Given the description of an element on the screen output the (x, y) to click on. 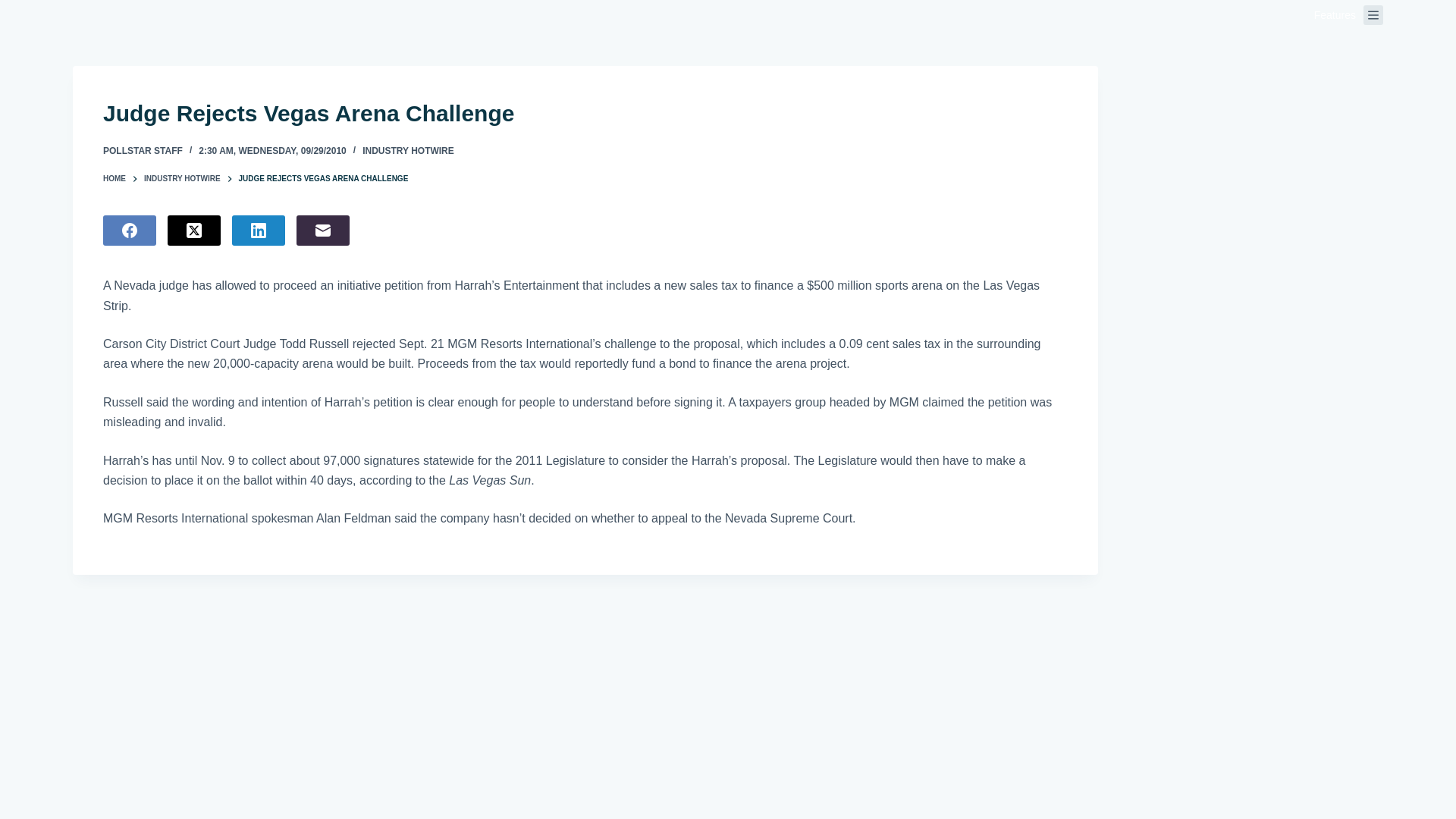
Judge Rejects Vegas Arena Challenge (585, 113)
Posts by Pollstar Staff (143, 150)
Skip to content (15, 7)
